Given the description of an element on the screen output the (x, y) to click on. 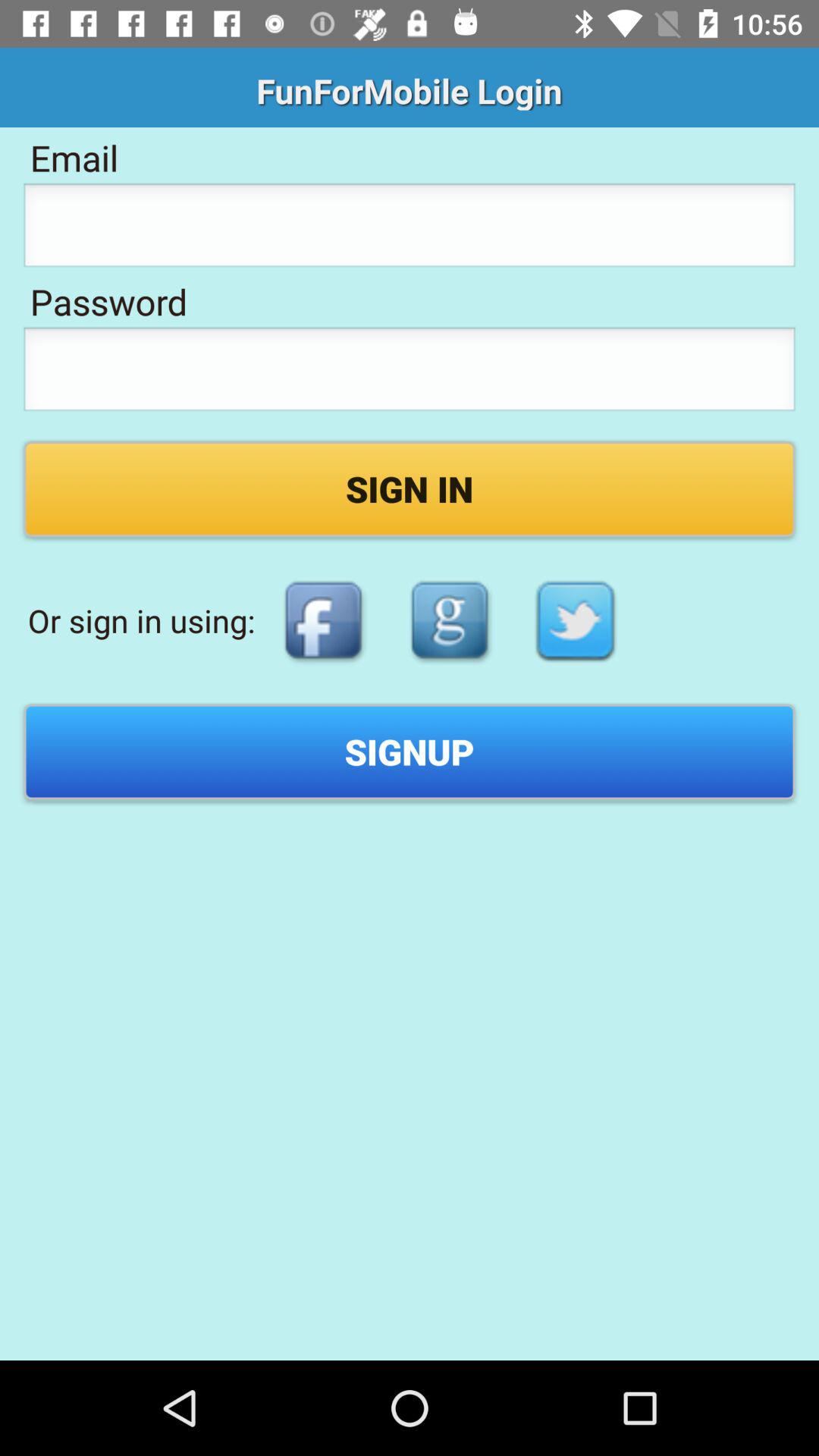
press app to the right of or sign in item (323, 620)
